Given the description of an element on the screen output the (x, y) to click on. 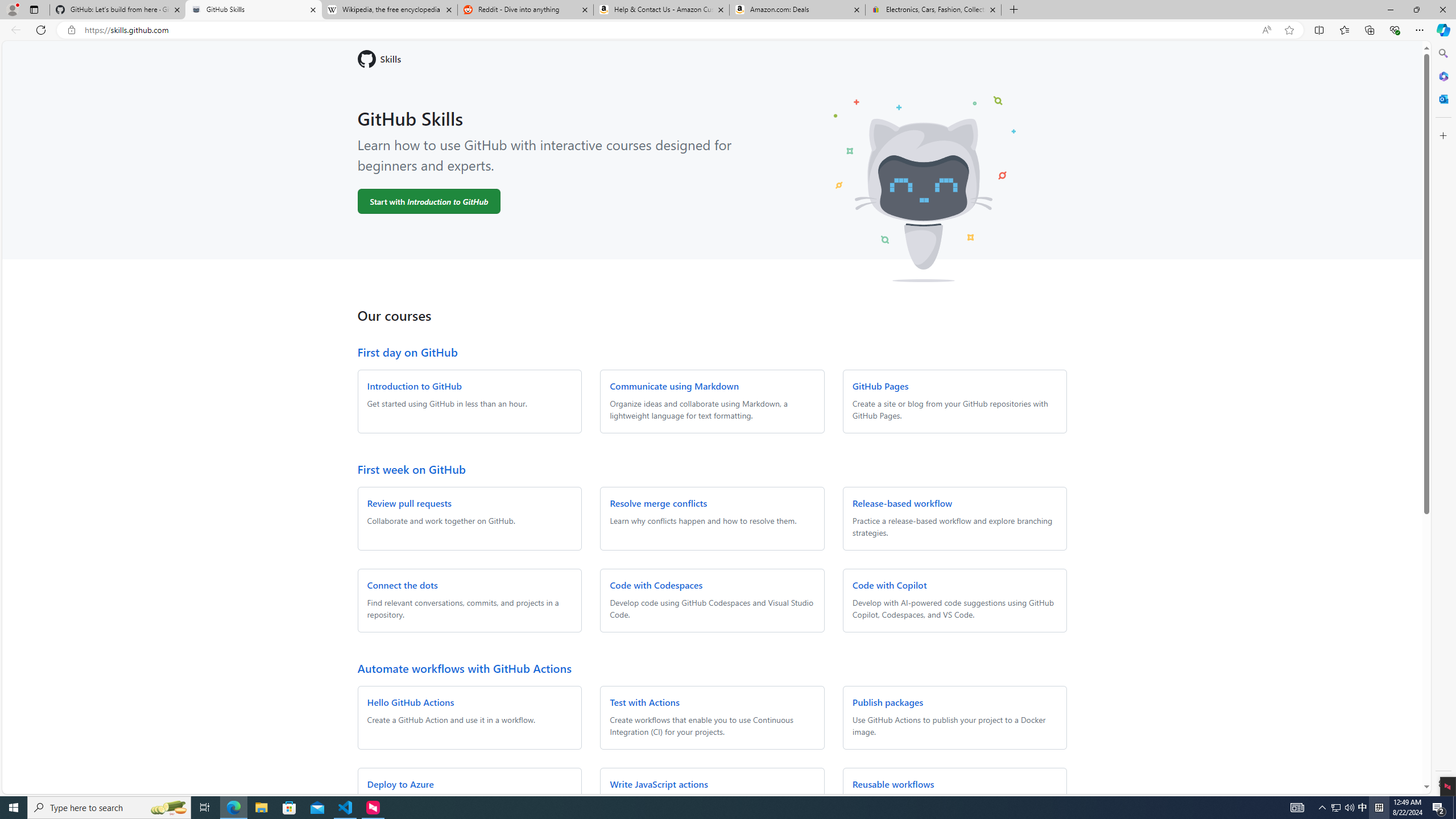
Start with Introduction to GitHub (428, 201)
Resolve merge conflicts (658, 503)
